Given the description of an element on the screen output the (x, y) to click on. 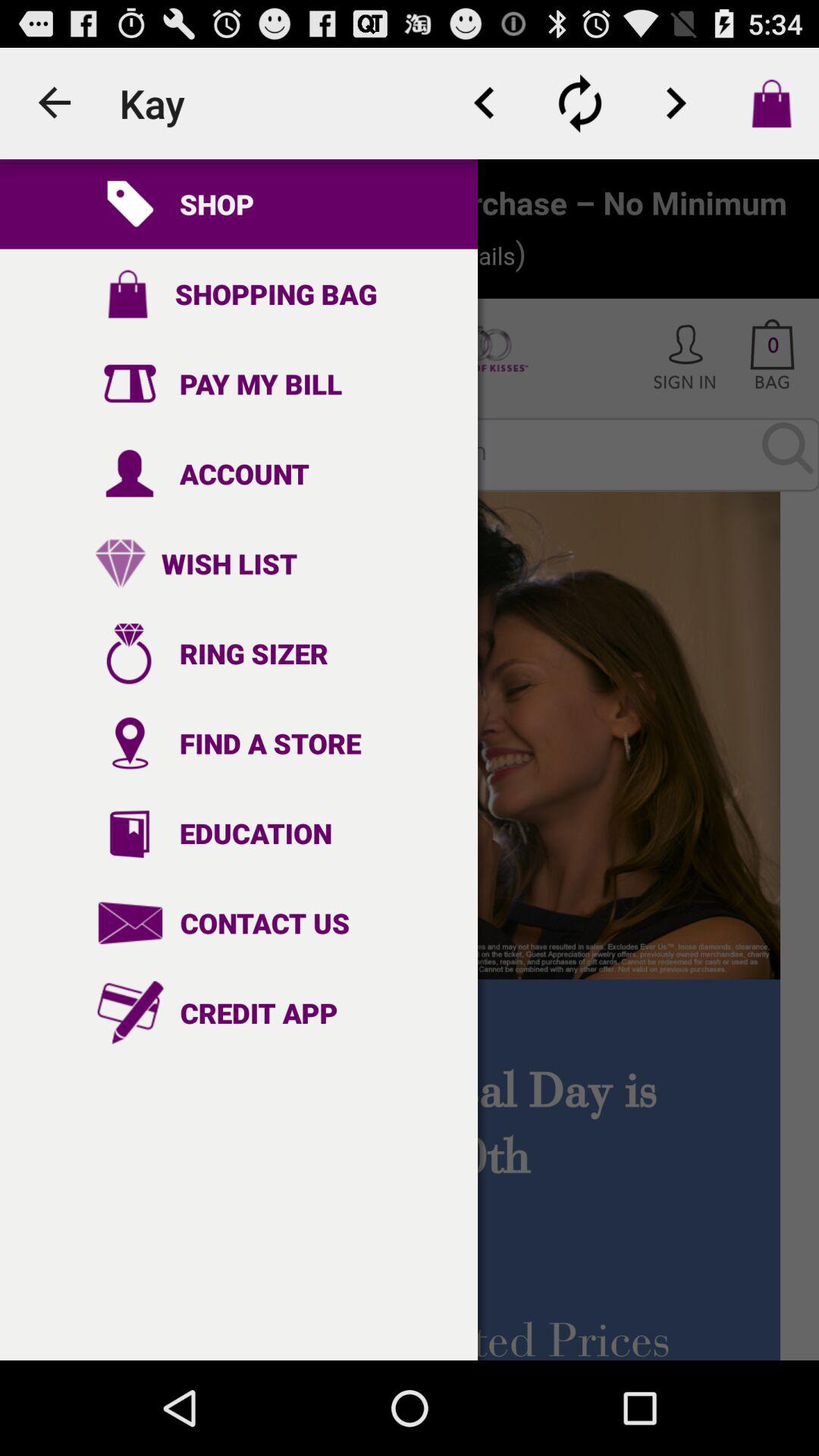
go to next option (675, 103)
